Given the description of an element on the screen output the (x, y) to click on. 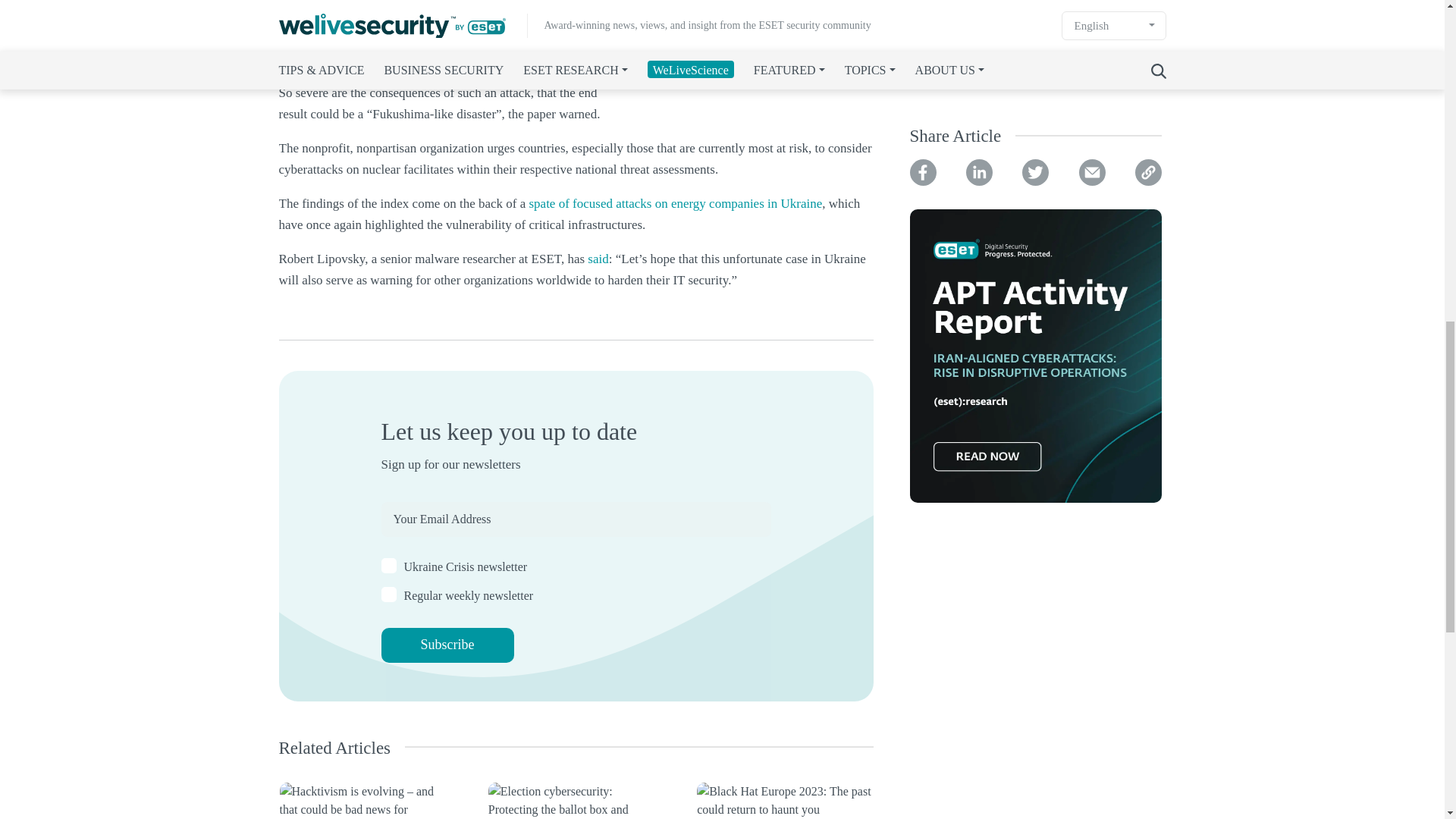
We Live Security Ukraine Newsletter (388, 565)
We Live Security (388, 594)
